Given the description of an element on the screen output the (x, y) to click on. 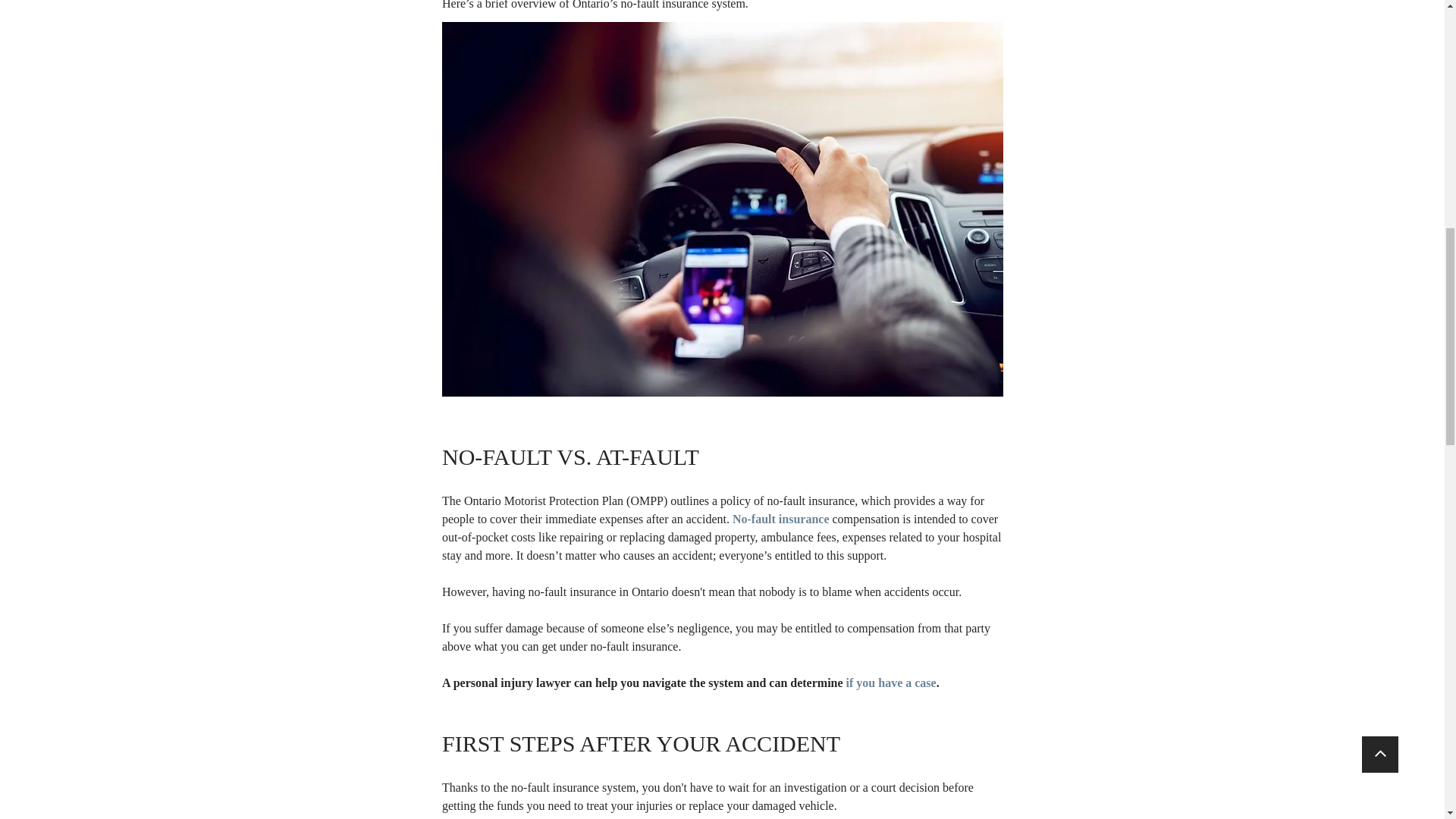
No-fault insurance (780, 518)
if you have a case (890, 682)
